Given the description of an element on the screen output the (x, y) to click on. 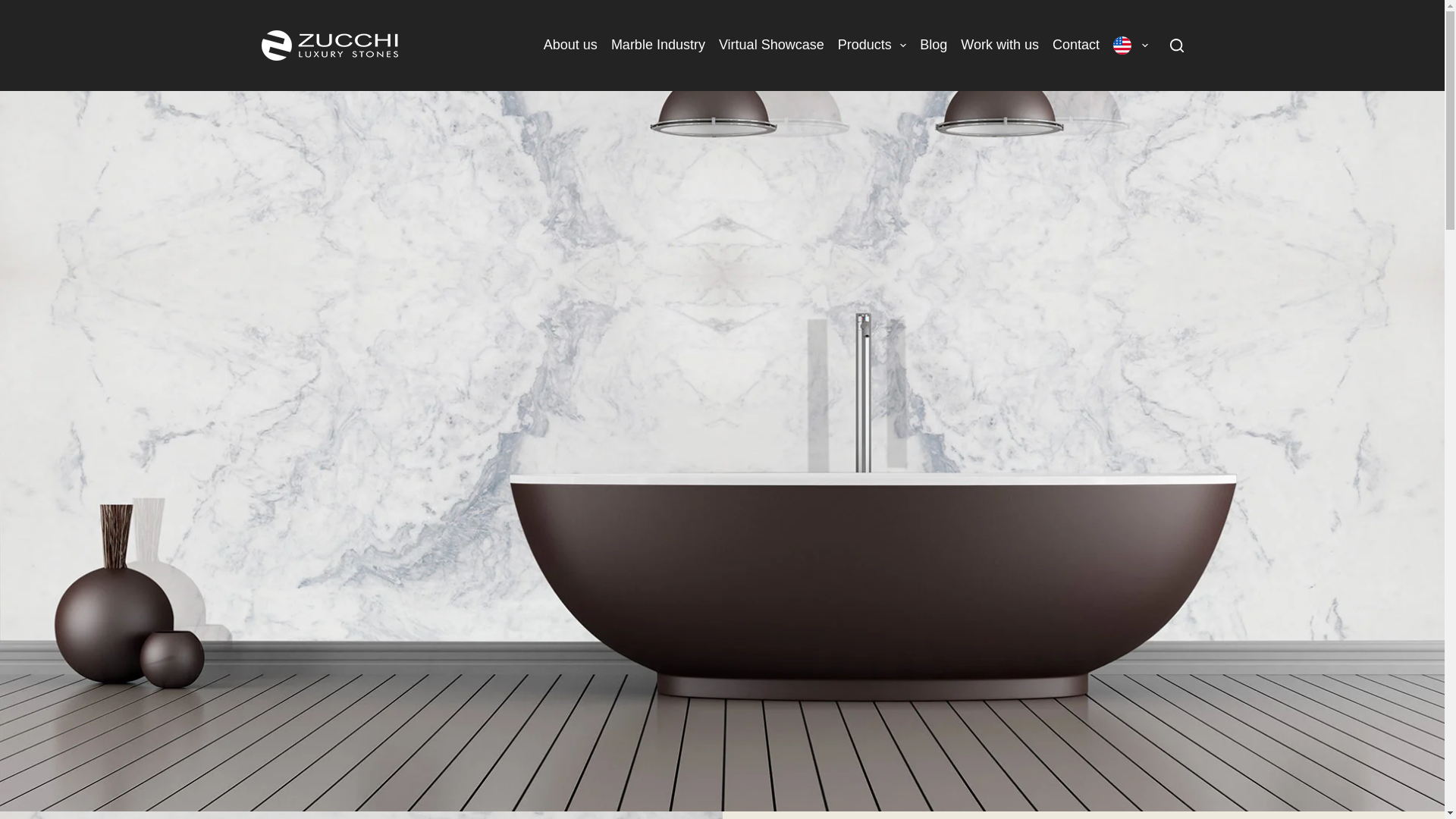
Work with us (999, 45)
Products (872, 45)
Virtual Showcase (771, 45)
Skip to content (15, 7)
Marble Industry (657, 45)
